Given the description of an element on the screen output the (x, y) to click on. 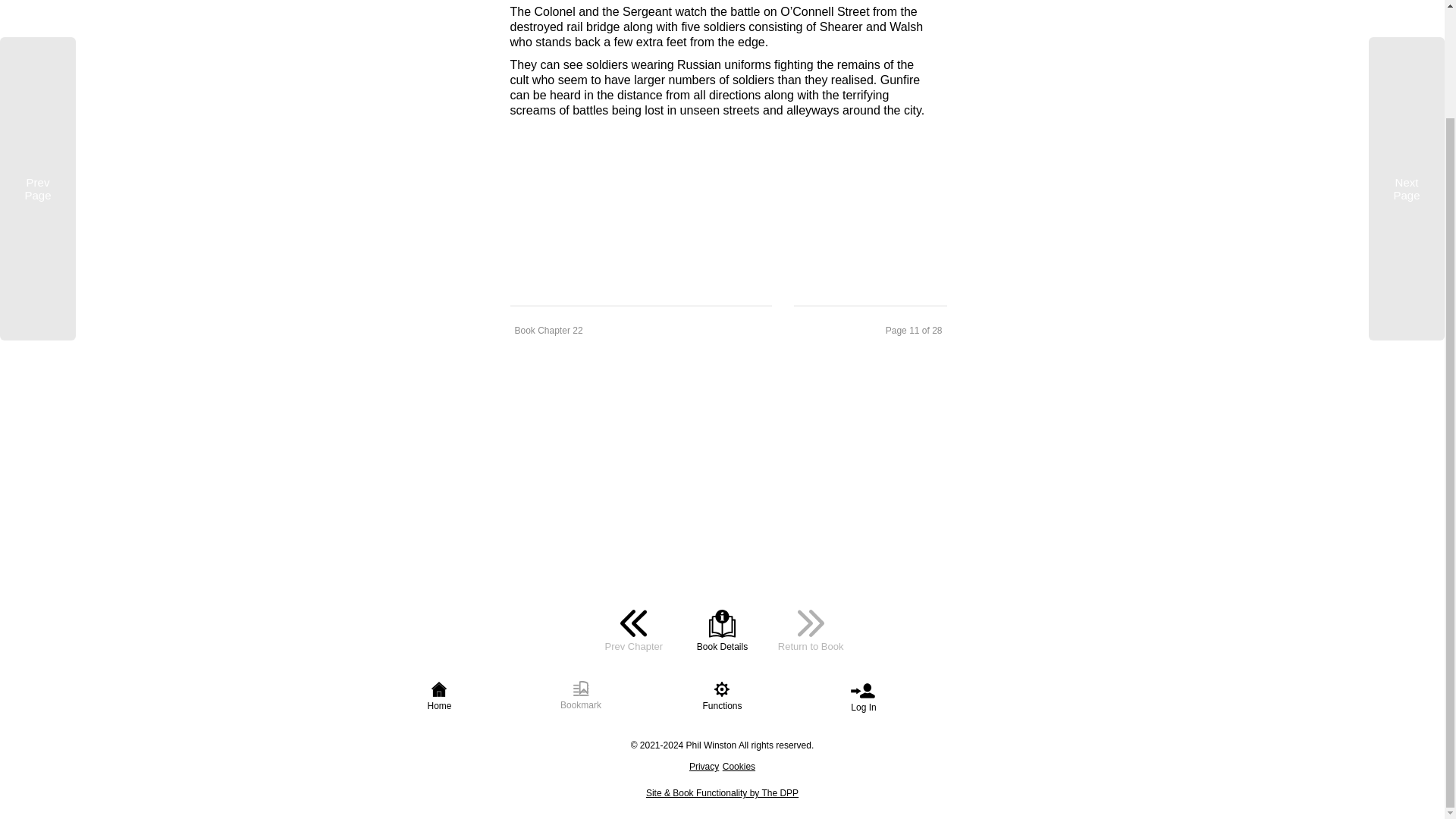
Page 11 of 28 (870, 329)
Book Chapter 22 (640, 329)
